Given the description of an element on the screen output the (x, y) to click on. 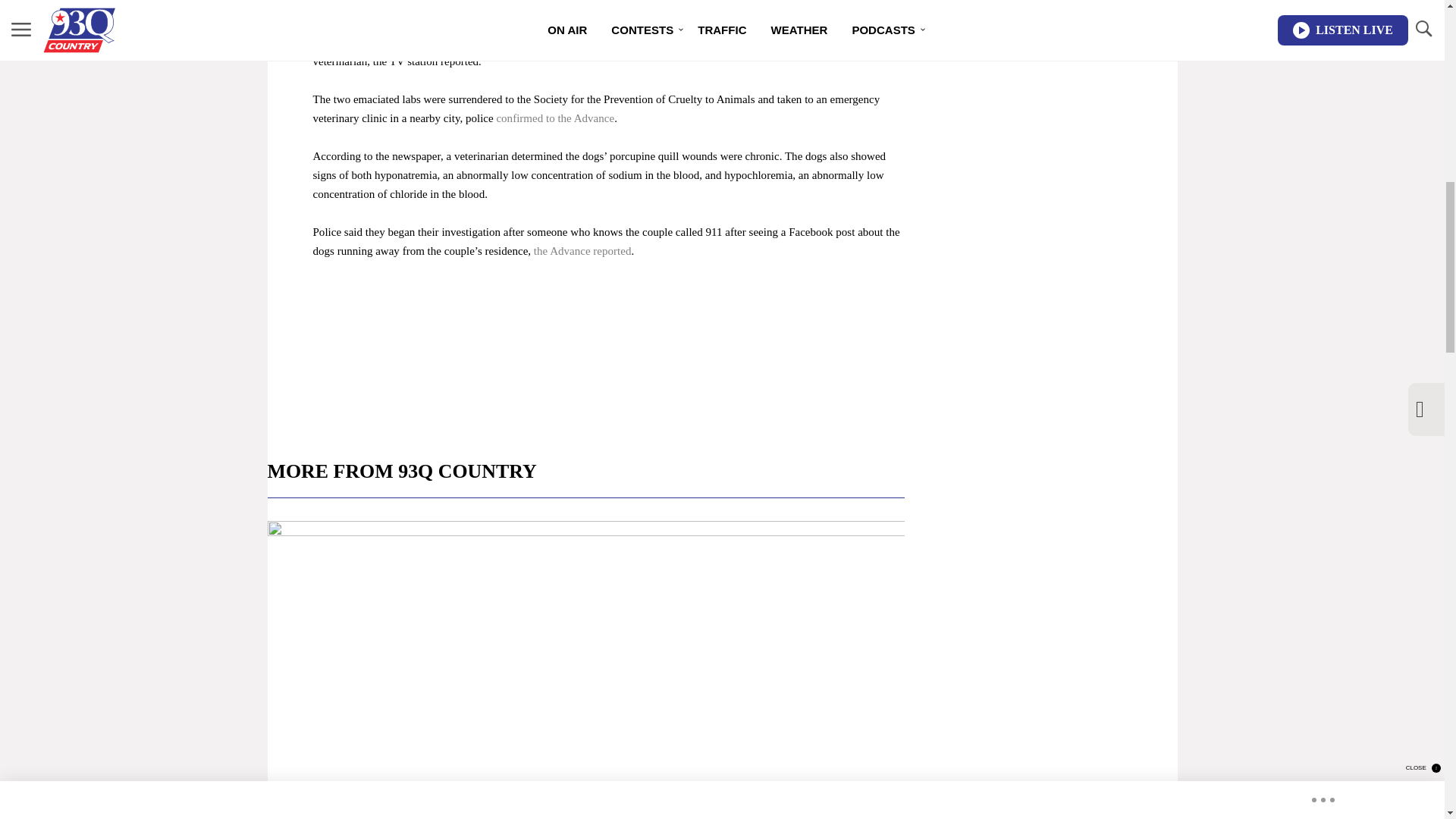
the Advance reported (582, 250)
WSYR-TV (579, 5)
confirmed to the Advance (555, 118)
